Given the description of an element on the screen output the (x, y) to click on. 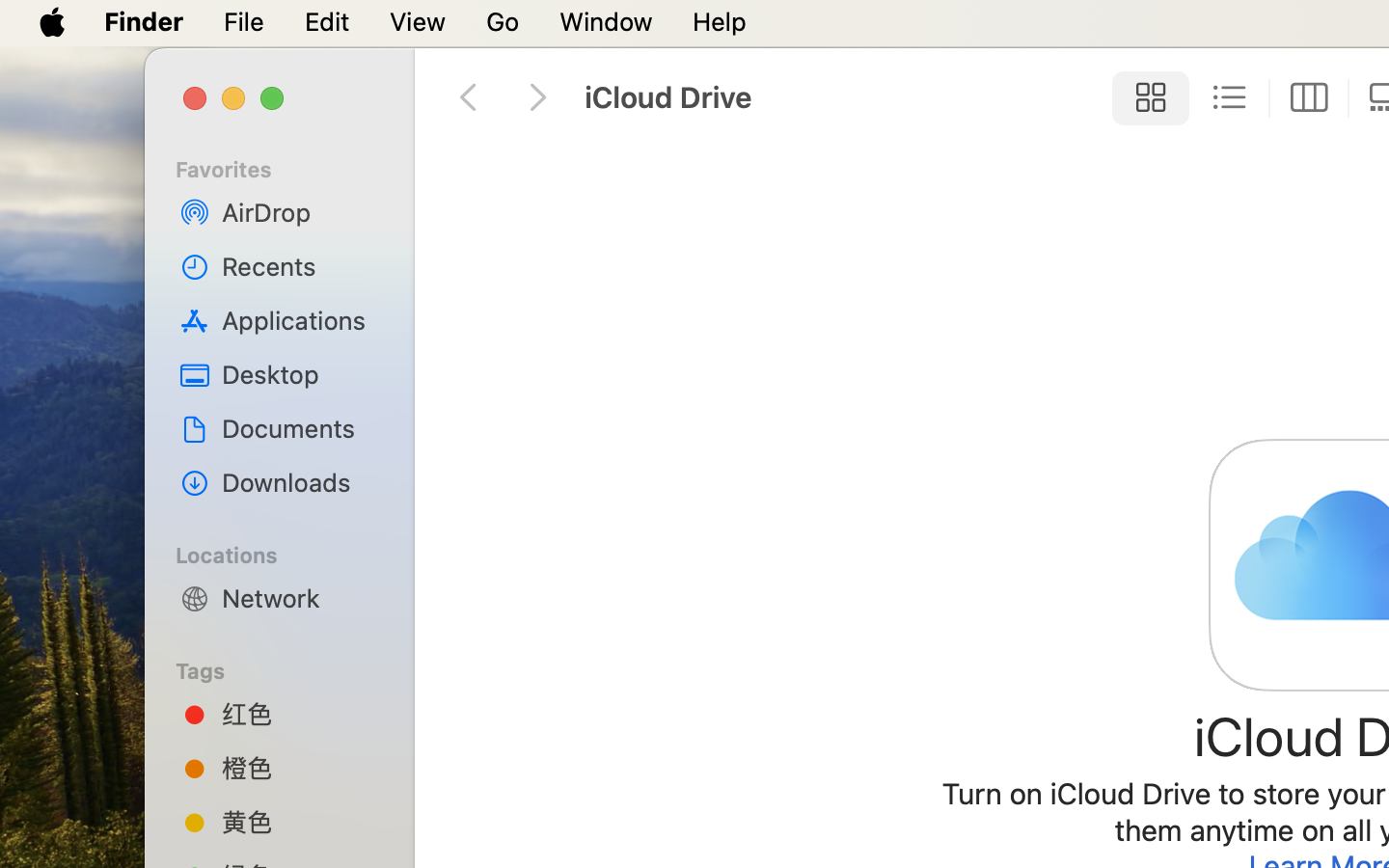
Recents Element type: AXStaticText (299, 265)
Locations Element type: AXStaticText (289, 552)
Documents Element type: AXStaticText (299, 427)
AirDrop Element type: AXStaticText (299, 211)
黄色 Element type: AXStaticText (299, 821)
